Given the description of an element on the screen output the (x, y) to click on. 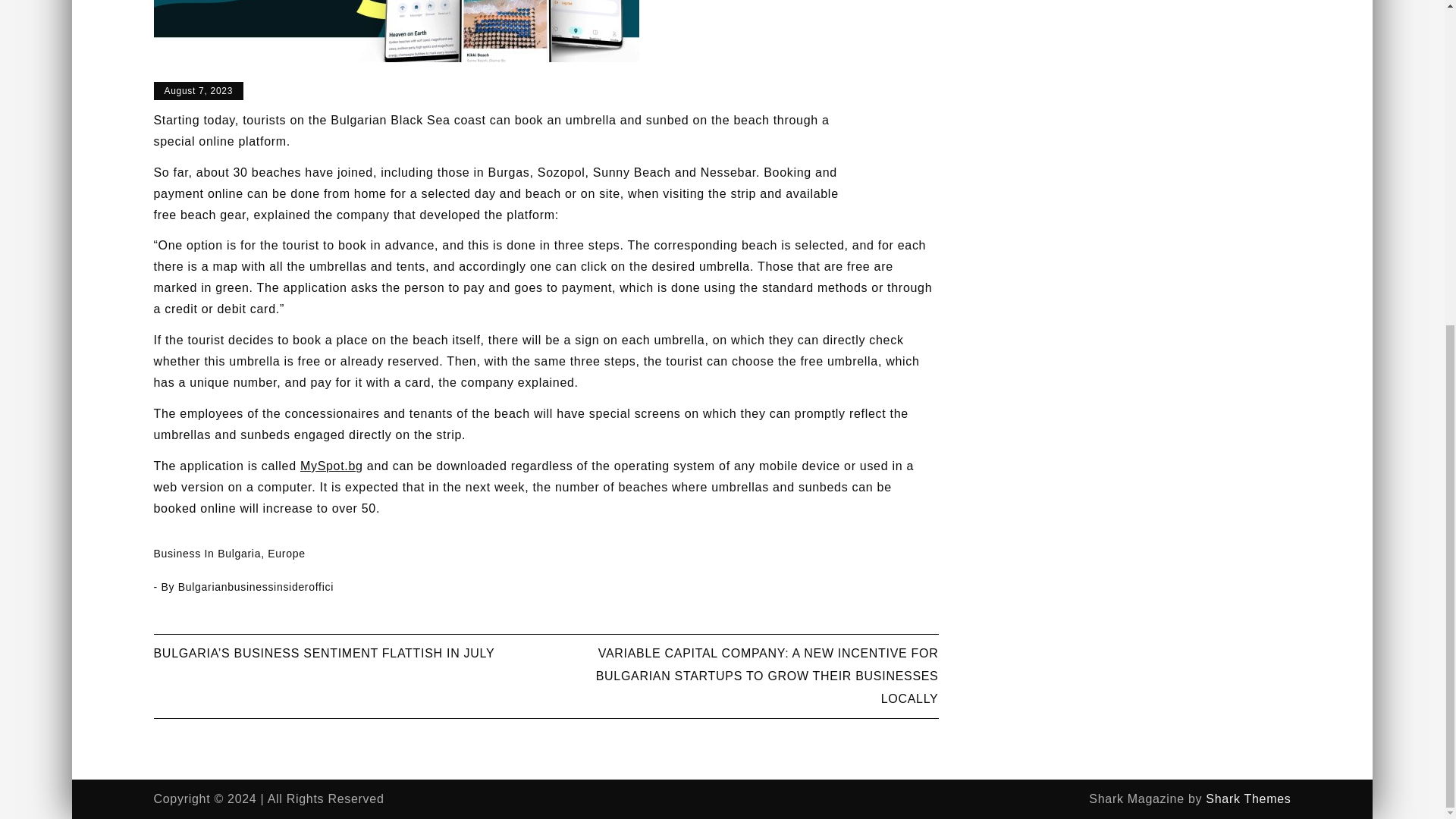
MySpot.bg (330, 465)
Europe (285, 553)
Shark Themes (1247, 798)
August 7, 2023 (197, 90)
Bulgarianbusinessinsideroffici (255, 586)
Business In Bulgaria (206, 553)
